Given the description of an element on the screen output the (x, y) to click on. 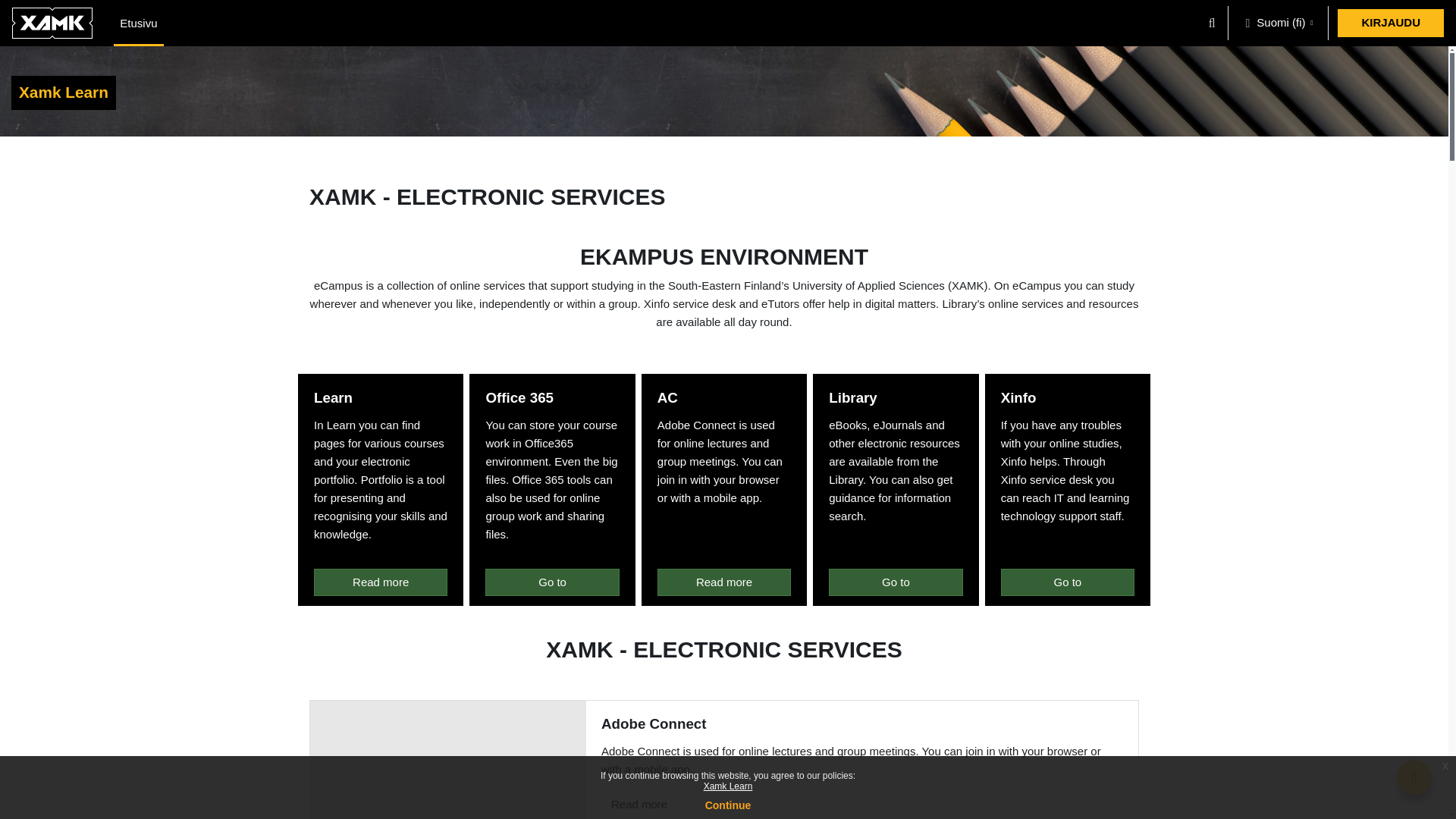
Etusivu (138, 22)
Go to (551, 582)
KIRJAUDU (1391, 22)
Read more (639, 804)
Go to (895, 582)
Go to (1067, 582)
Read more (380, 582)
Read more (724, 582)
